Given the description of an element on the screen output the (x, y) to click on. 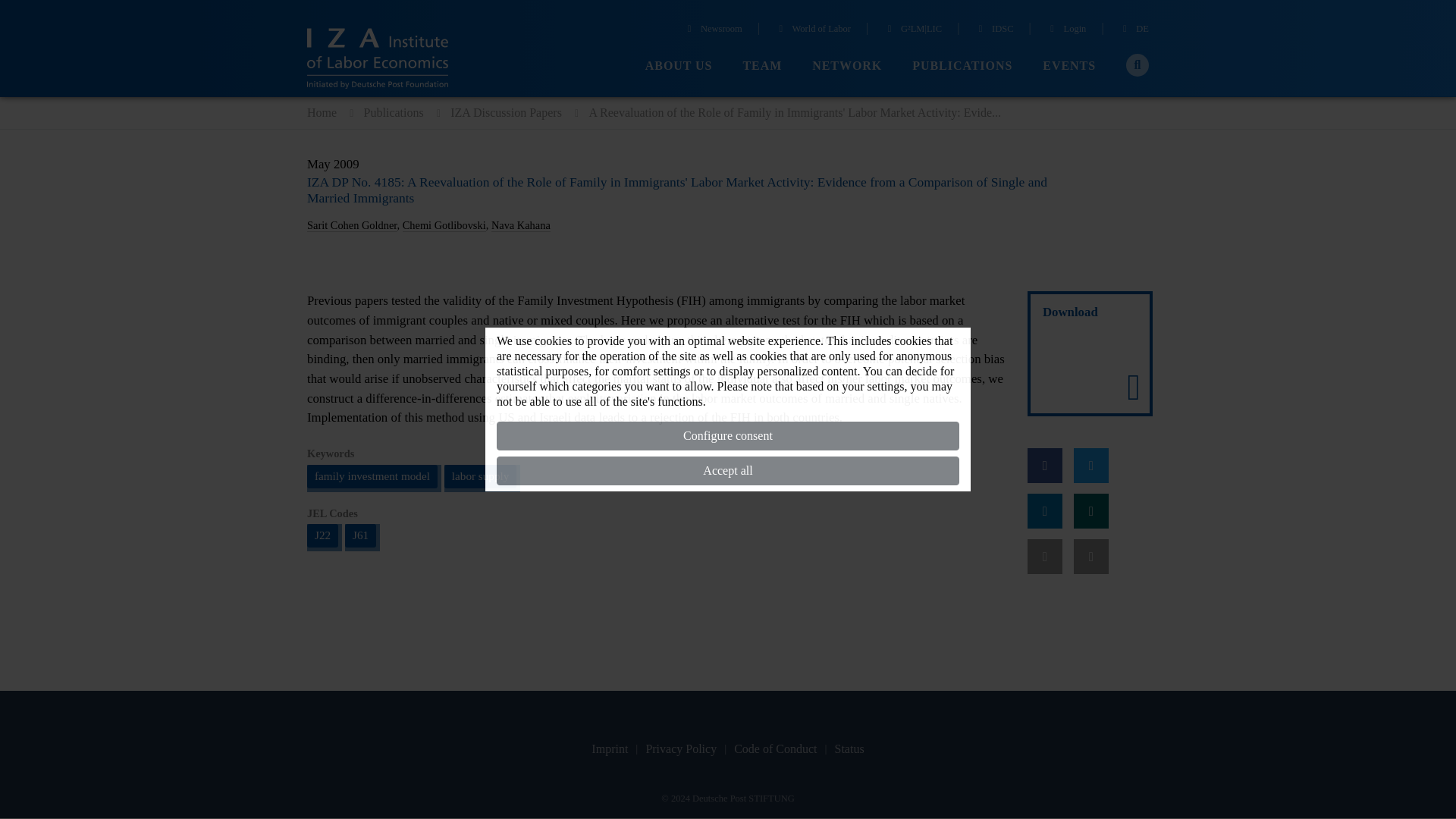
ABOUT US (679, 66)
IDSC (993, 30)
NETWORK (847, 66)
DE (1133, 30)
PUBLICATIONS (961, 66)
TEAM (761, 66)
Newsroom (712, 30)
EVENTS (1069, 66)
World of Labor (812, 30)
Login (1066, 30)
